Given the description of an element on the screen output the (x, y) to click on. 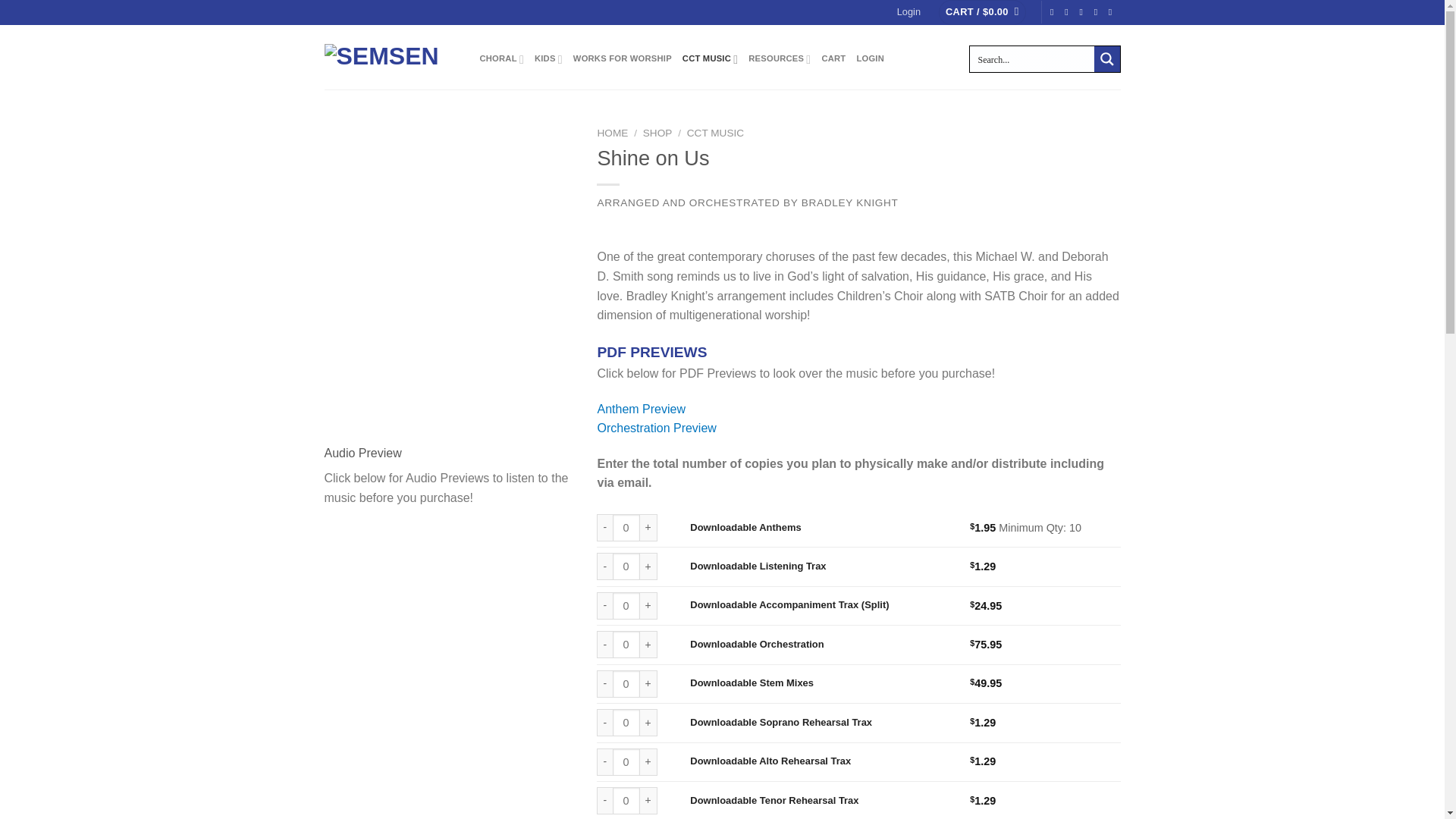
Login (908, 11)
CCT MUSIC (710, 59)
WORKS FOR WORSHIP (622, 59)
Semsen Music - Music and resources for your ministry. (390, 56)
Login (908, 11)
KIDS (548, 59)
CHORAL (500, 59)
Cart (982, 12)
